Given the description of an element on the screen output the (x, y) to click on. 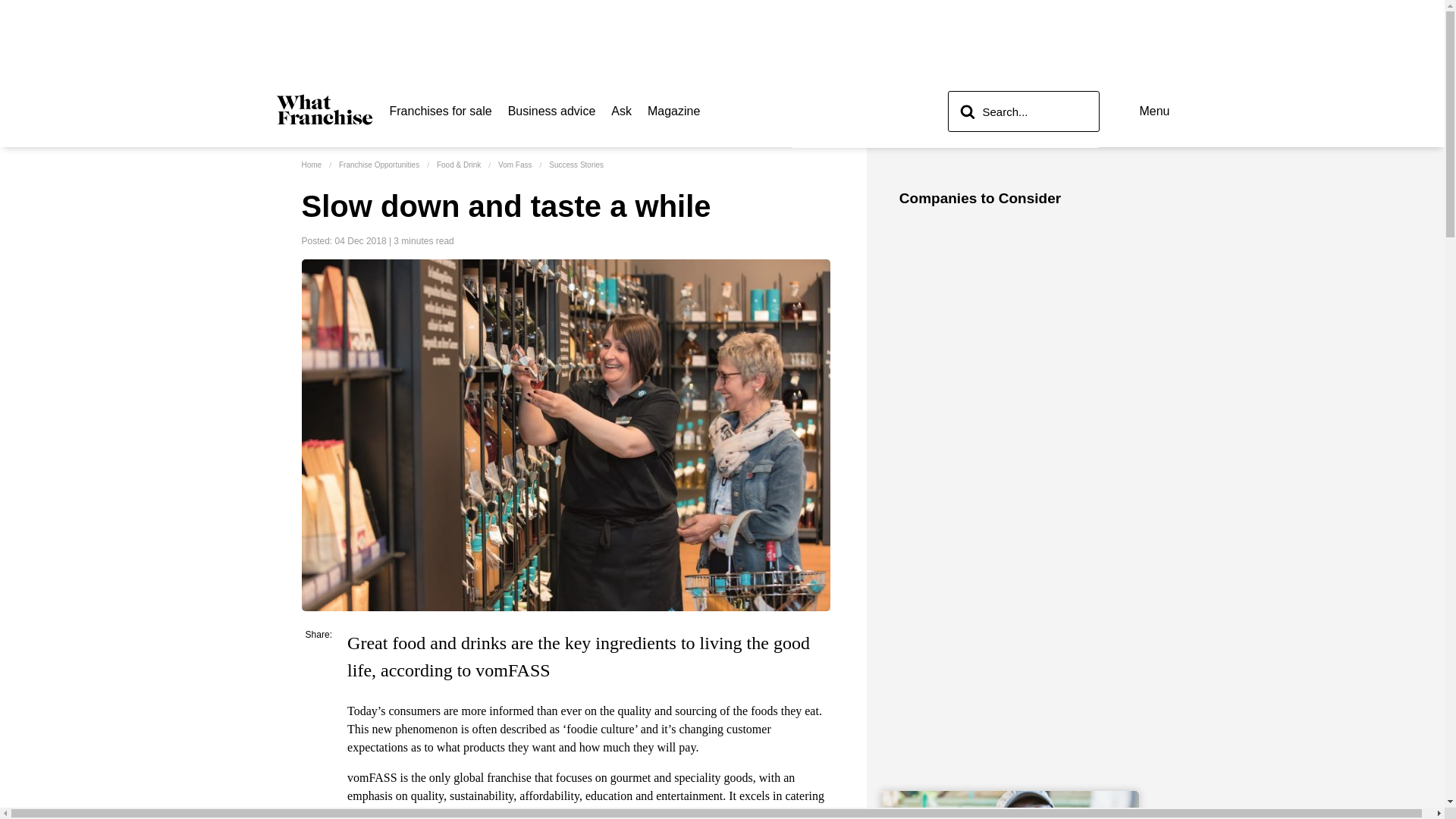
Vom Fass (514, 164)
Business advice (551, 110)
Ask (621, 110)
Success Stories (576, 164)
Home (311, 164)
Franchise Opportunities (379, 164)
Magazine (673, 110)
Franchises for sale (441, 110)
